Given the description of an element on the screen output the (x, y) to click on. 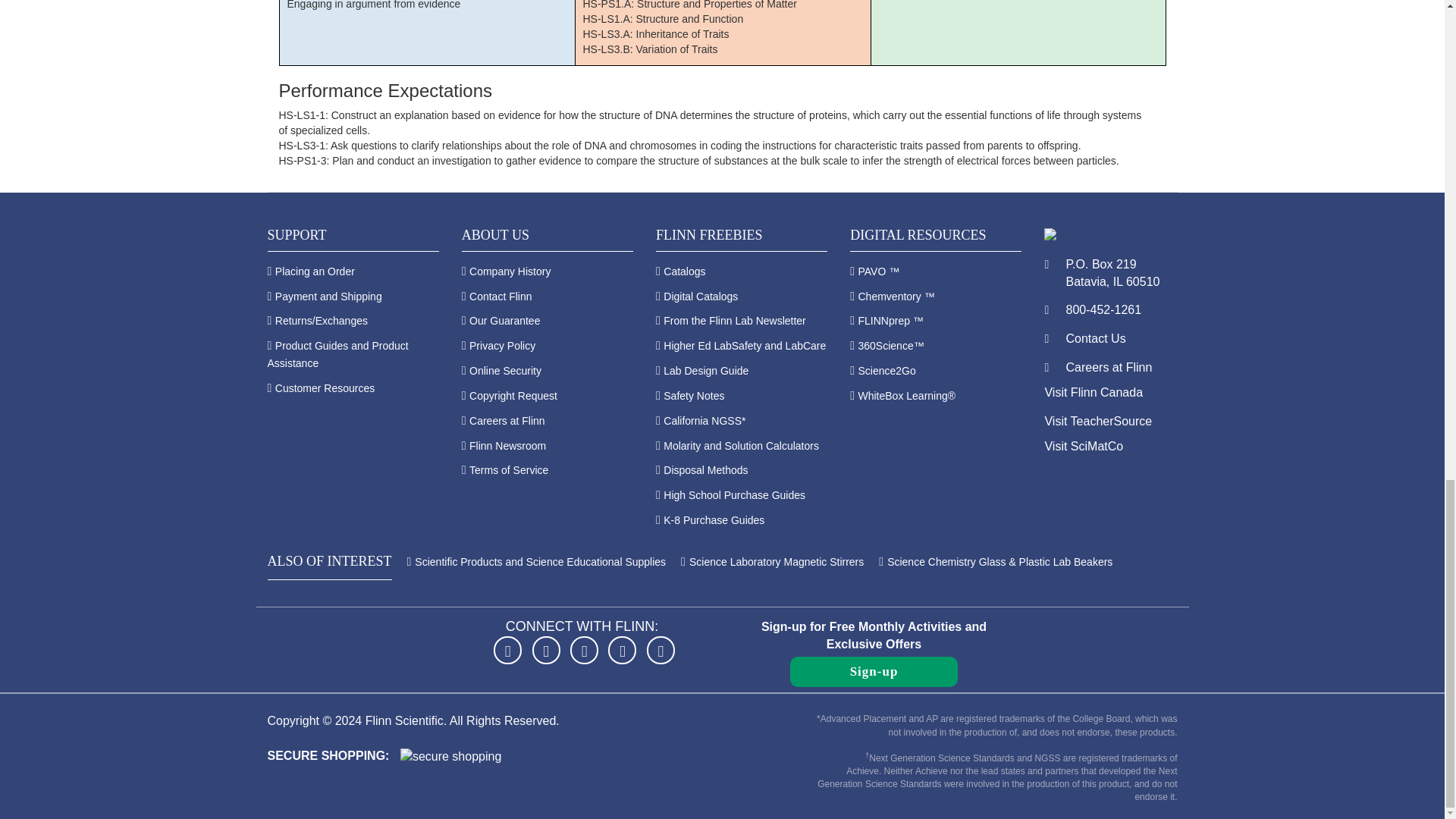
Terms of Service (508, 469)
Higher Ed LabSafety and LabCare (744, 345)
Product Guides and Product Assistance (336, 354)
Flinn Newsroom (507, 445)
Disposal Methods (705, 469)
